Given the description of an element on the screen output the (x, y) to click on. 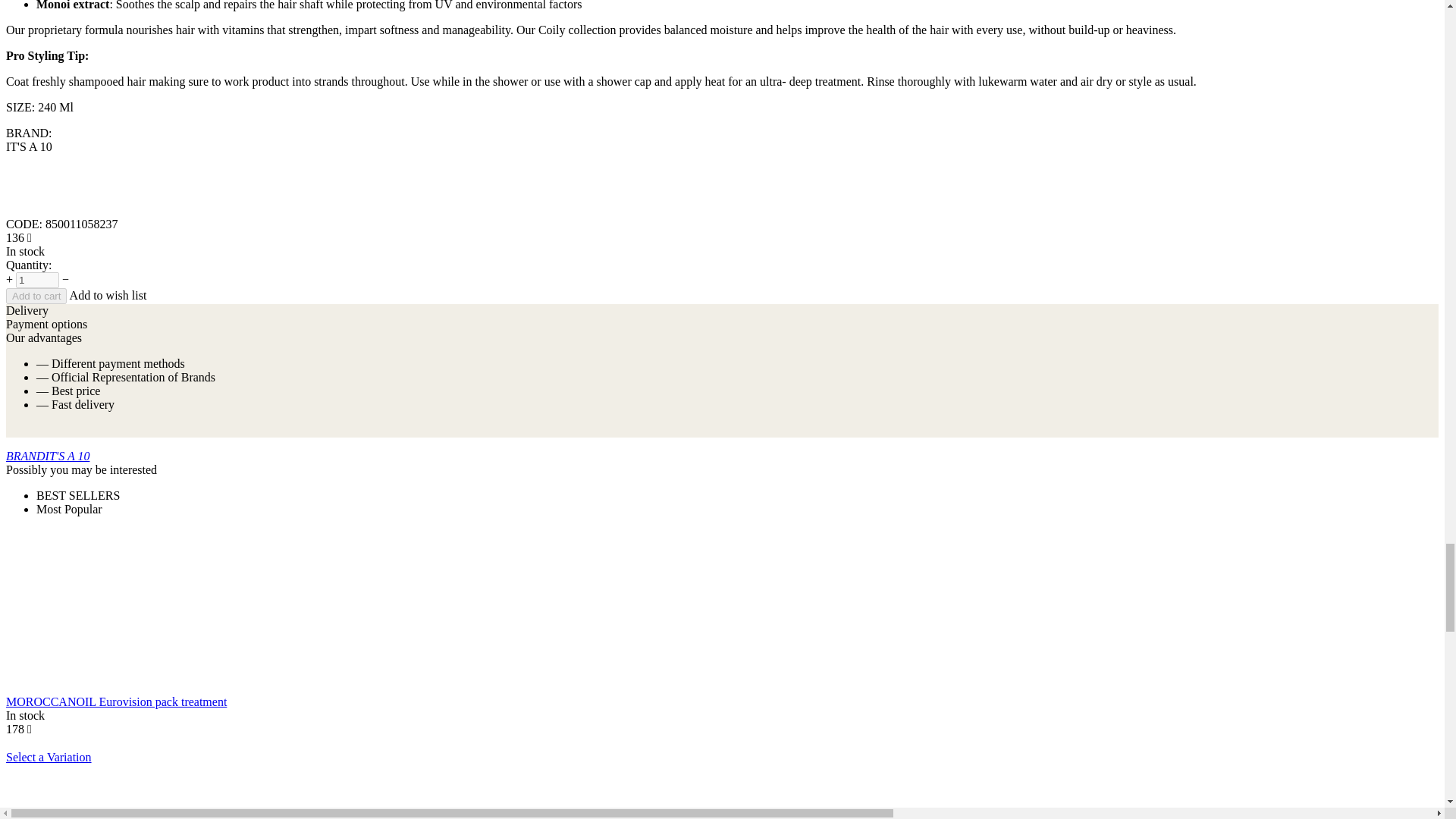
BRAND: IT'S A 10 (35, 210)
1 (37, 279)
Add to wishlist (108, 295)
MOROCCANOIL Eurovision pack treatment (116, 701)
